Given the description of an element on the screen output the (x, y) to click on. 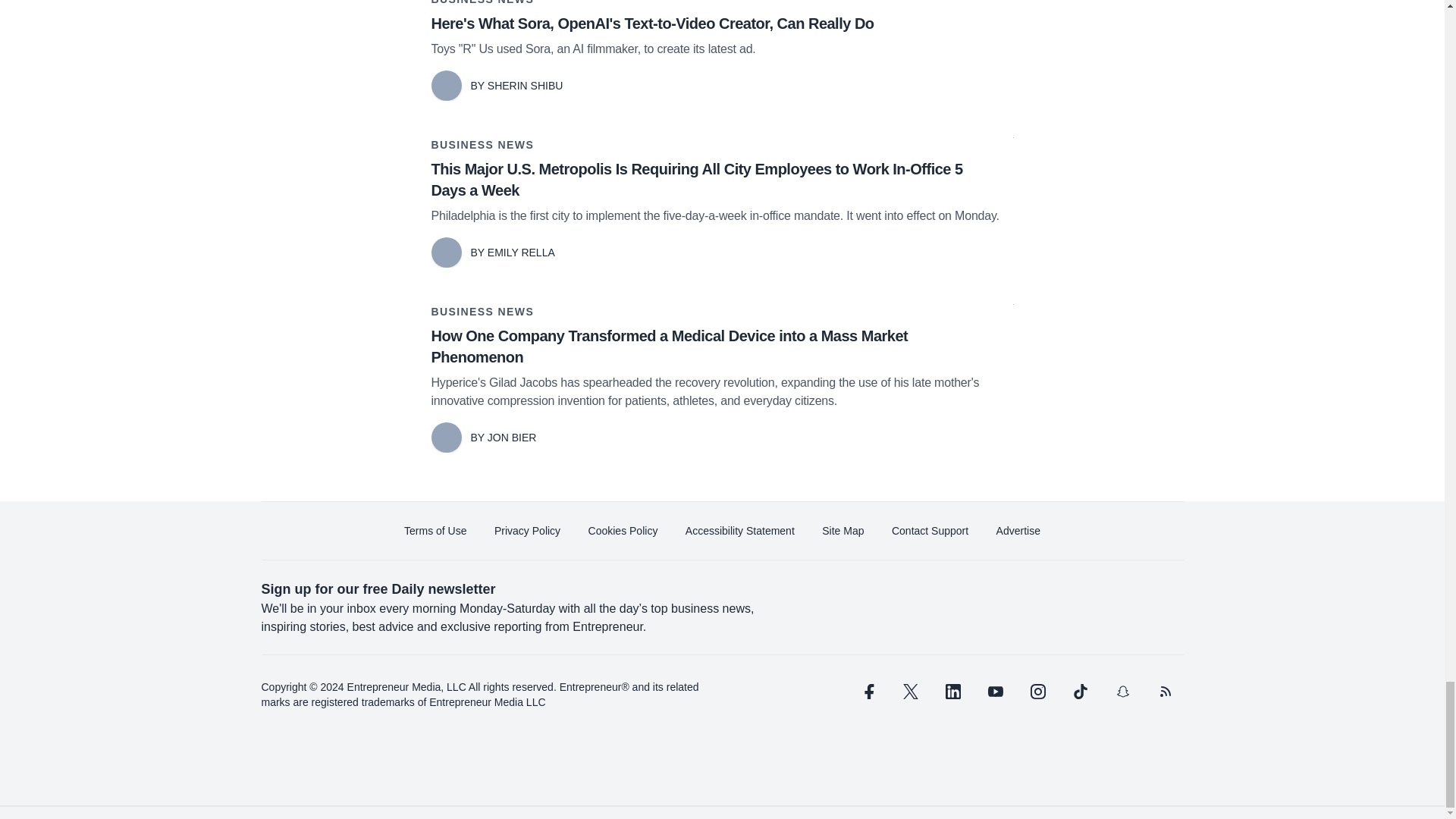
facebook (866, 691)
twitter (909, 691)
tiktok (1079, 691)
snapchat (1121, 691)
linkedin (952, 691)
youtube (994, 691)
instagram (1037, 691)
